Given the description of an element on the screen output the (x, y) to click on. 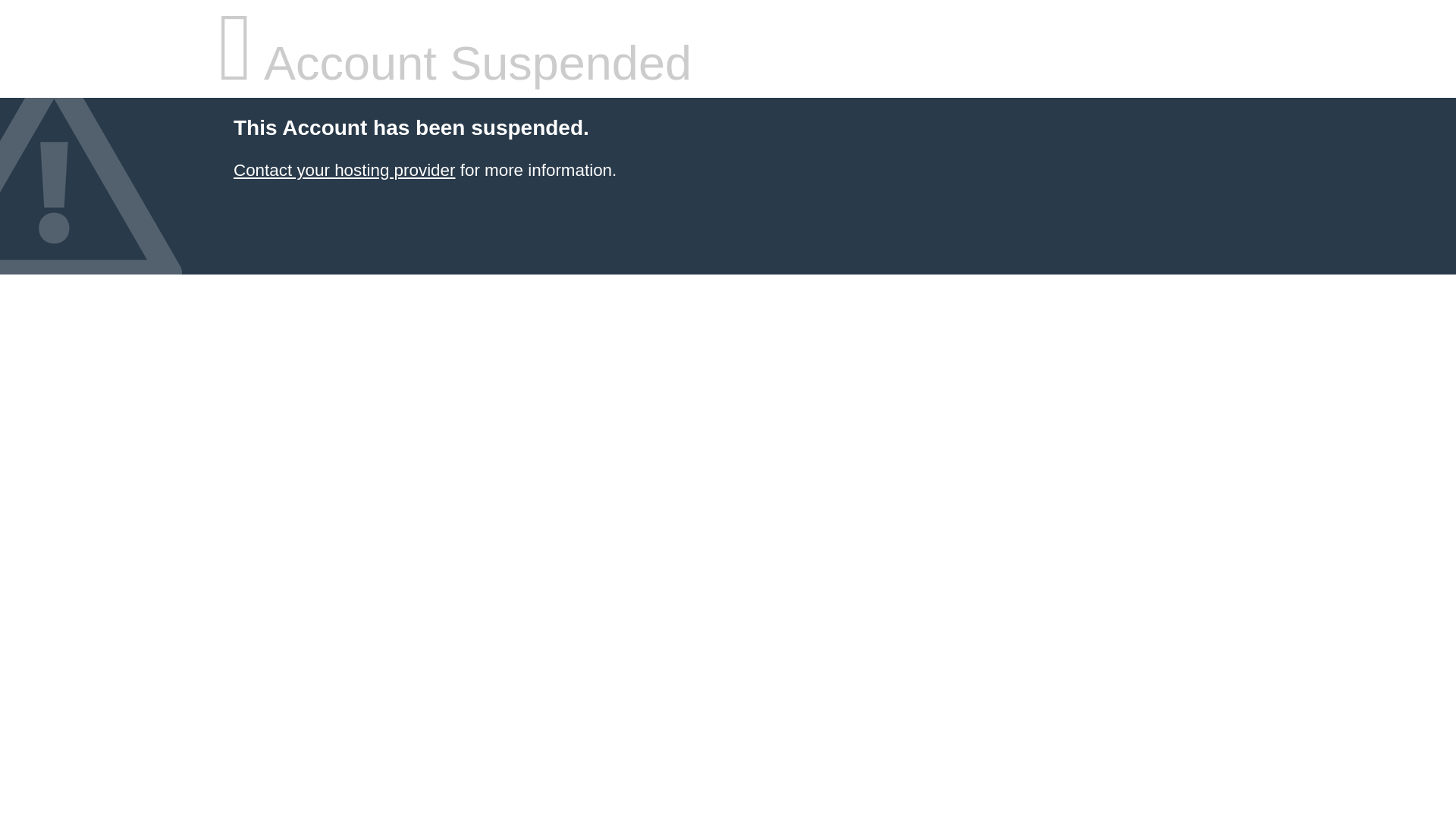
Contact your hosting provider (343, 169)
